Given the description of an element on the screen output the (x, y) to click on. 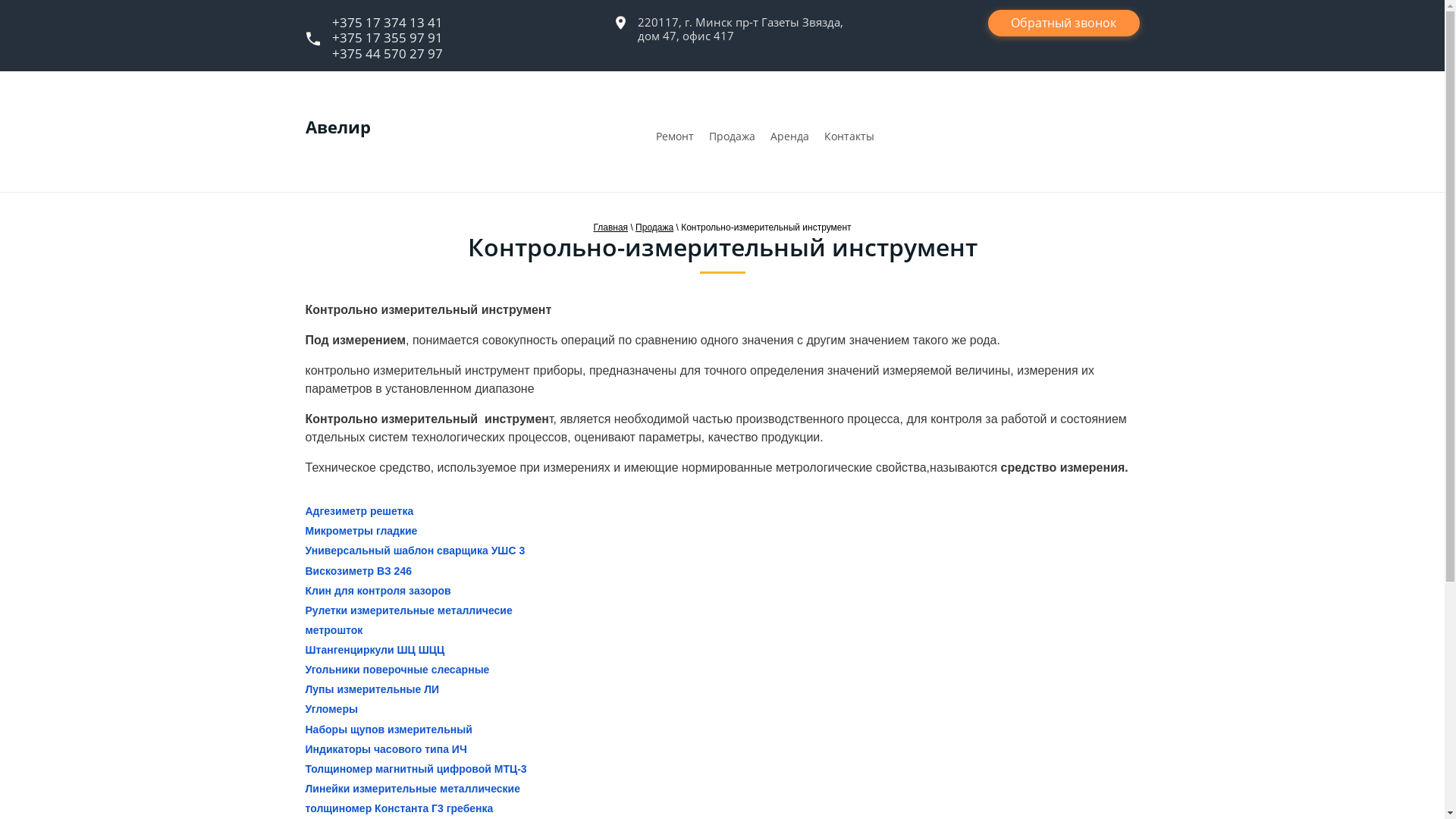
+375 44 570 27 97 Element type: text (387, 53)
+375 17 355 97 91 Element type: text (387, 37)
+375 17 374 13 41 Element type: text (387, 22)
